Given the description of an element on the screen output the (x, y) to click on. 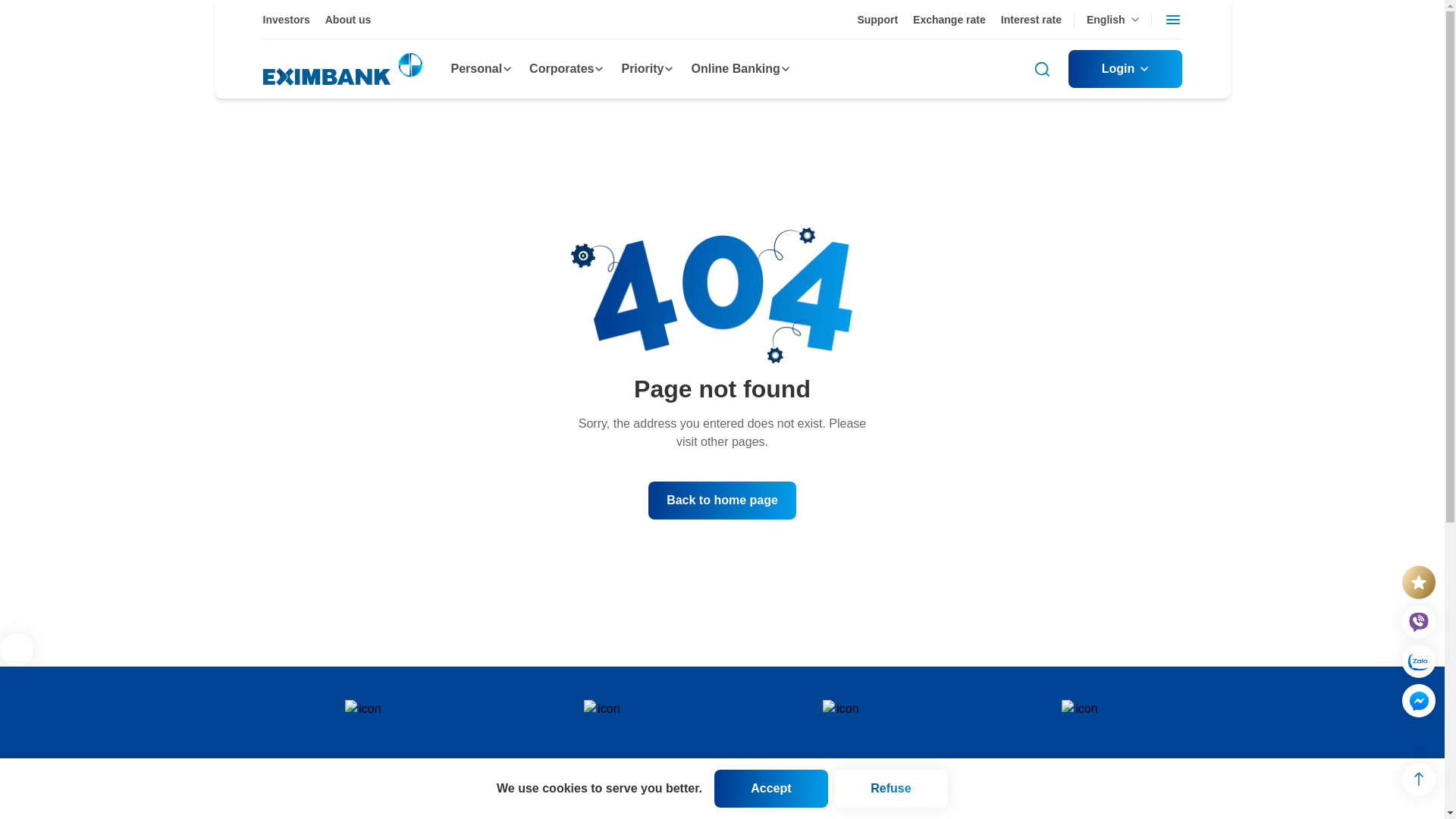
Interest rate (1031, 19)
Refuse (890, 788)
About us (347, 19)
Contact (363, 736)
Exchange rate (948, 19)
Support (877, 19)
Investors (285, 19)
Accept (771, 788)
Login (1123, 68)
Back to home page (721, 500)
Support Tools (1080, 736)
Appointment (603, 736)
